Given the description of an element on the screen output the (x, y) to click on. 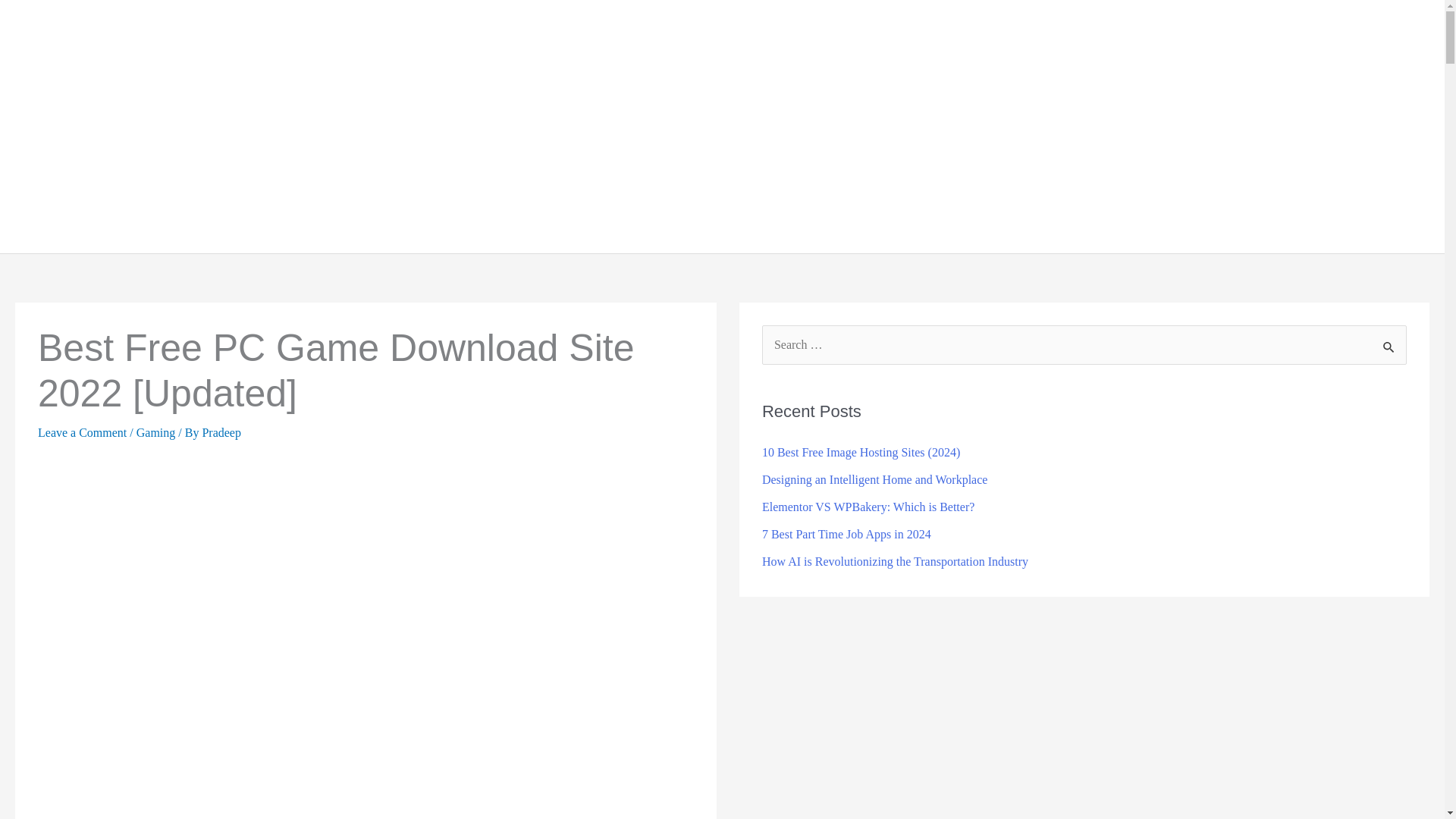
Gaming (1145, 126)
Technology (997, 126)
Review (1308, 126)
Contact us (1383, 126)
Cryptocurrency (1226, 126)
View all posts by Pradeep (221, 431)
Guide (1079, 126)
